Given the description of an element on the screen output the (x, y) to click on. 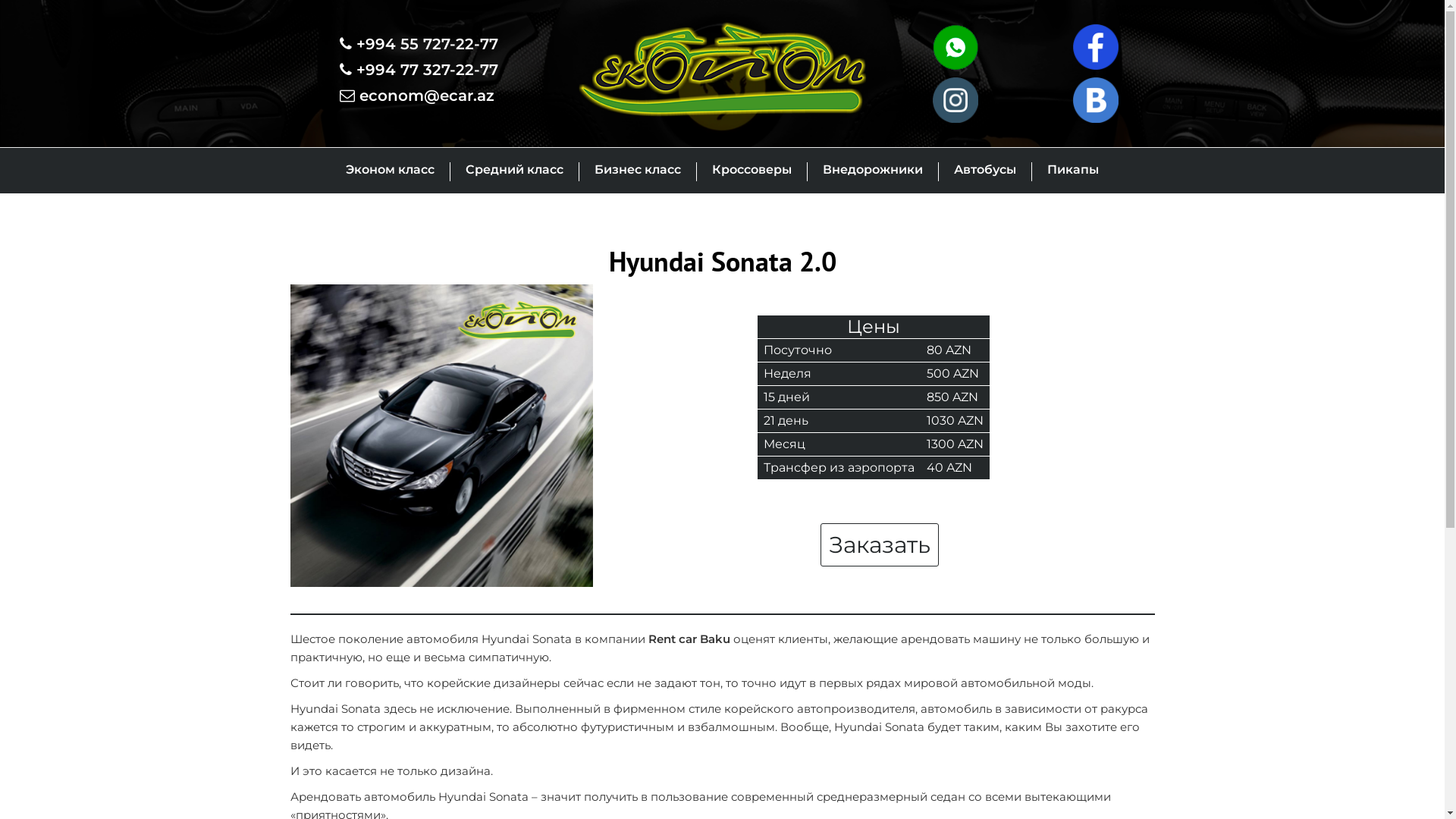
econom@ecar.az Element type: text (416, 95)
+994 77 327-22-77 Element type: text (418, 69)
Rent car Baku Element type: text (688, 638)
+994 55 727-22-77 Element type: text (418, 43)
